Given the description of an element on the screen output the (x, y) to click on. 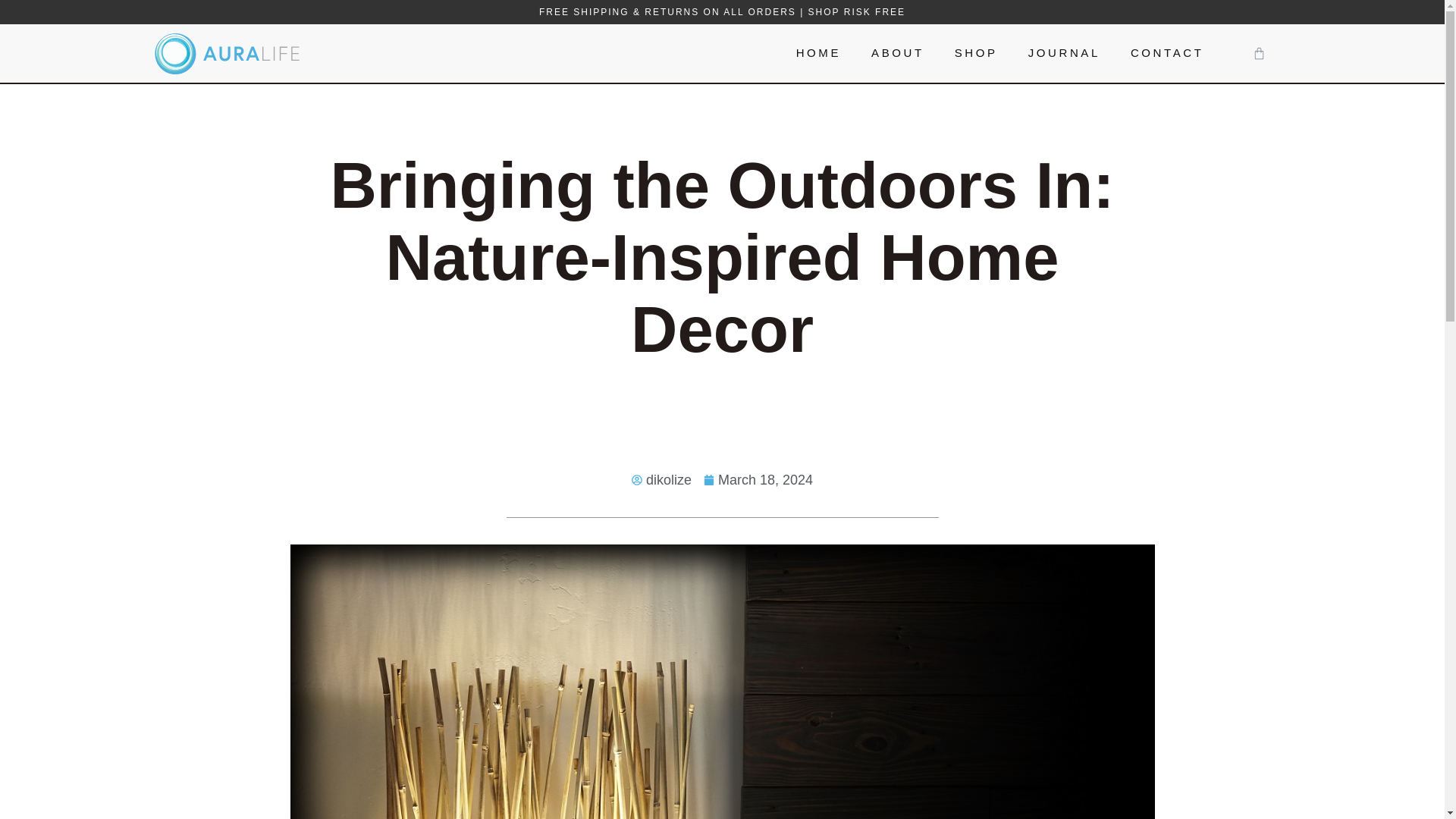
HOME (818, 53)
dikolize (661, 479)
CONTACT (1167, 53)
ABOUT (897, 53)
SHOP (976, 53)
JOURNAL (1064, 53)
March 18, 2024 (757, 479)
